Given the description of an element on the screen output the (x, y) to click on. 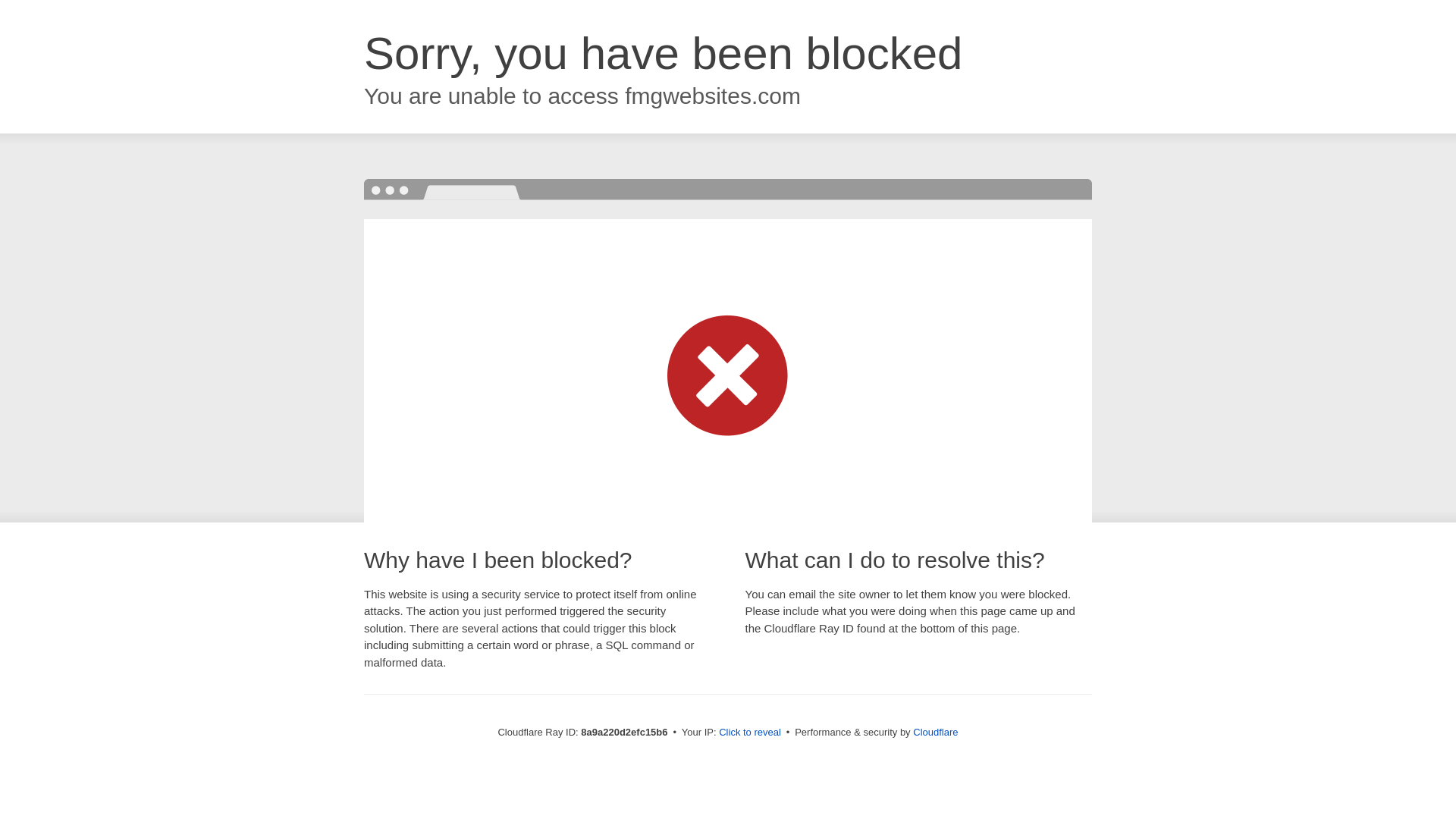
Click to reveal (749, 732)
Cloudflare (935, 731)
